Given the description of an element on the screen output the (x, y) to click on. 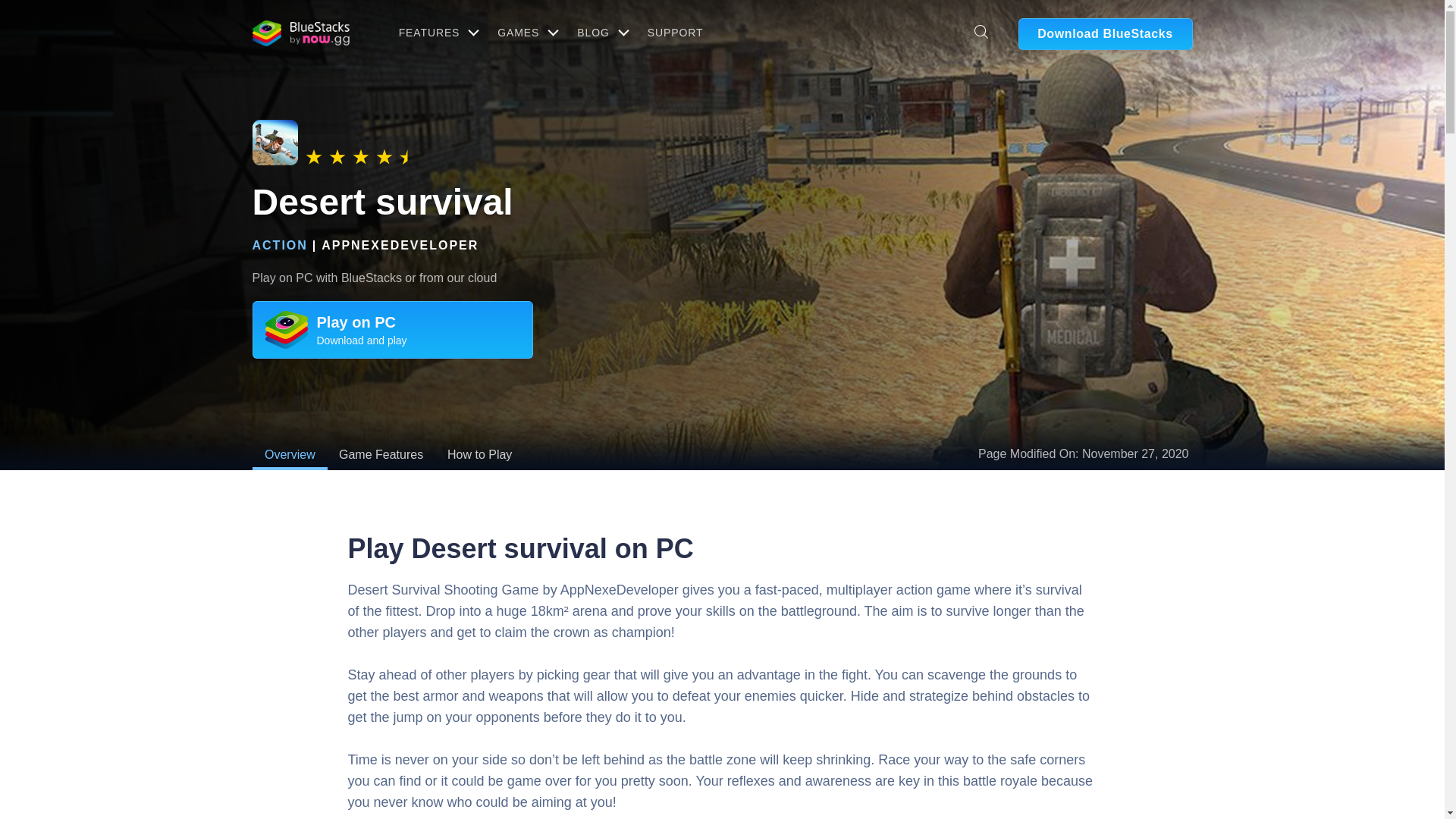
FEATURES (437, 32)
